Given the description of an element on the screen output the (x, y) to click on. 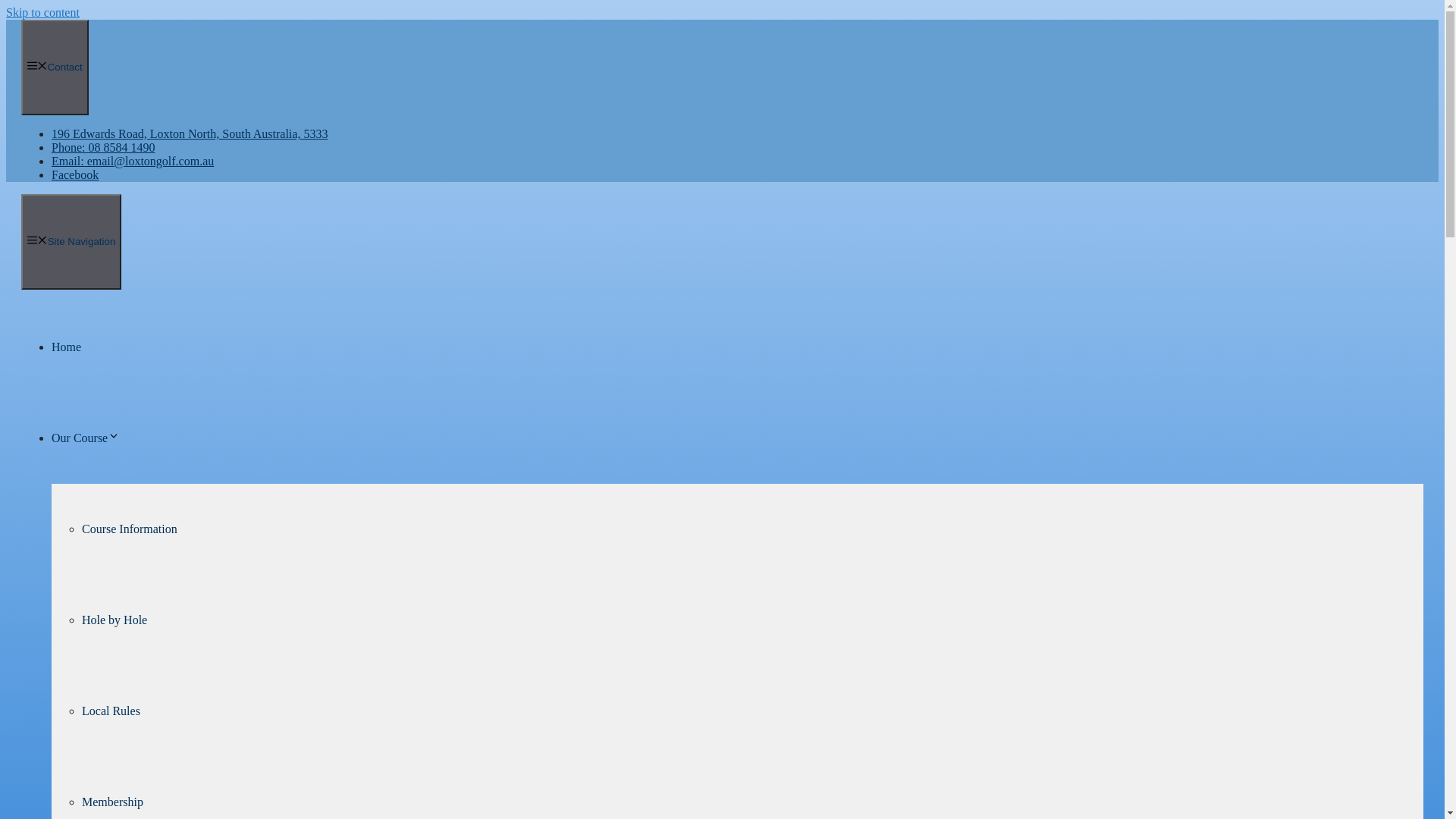
Membership Element type: text (112, 801)
Local Rules Element type: text (110, 710)
196 Edwards Road, Loxton North, South Australia, 5333 Element type: text (189, 133)
Hole by Hole Element type: text (114, 619)
Site Navigation Element type: text (71, 241)
Contact Element type: text (54, 67)
Course Information Element type: text (129, 528)
Facebook Element type: text (74, 174)
Home Element type: text (66, 346)
Our Course Element type: text (85, 437)
Phone: 08 8584 1490 Element type: text (102, 147)
Email: email@loxtongolf.com.au Element type: text (132, 160)
Skip to content Element type: text (42, 12)
